Given the description of an element on the screen output the (x, y) to click on. 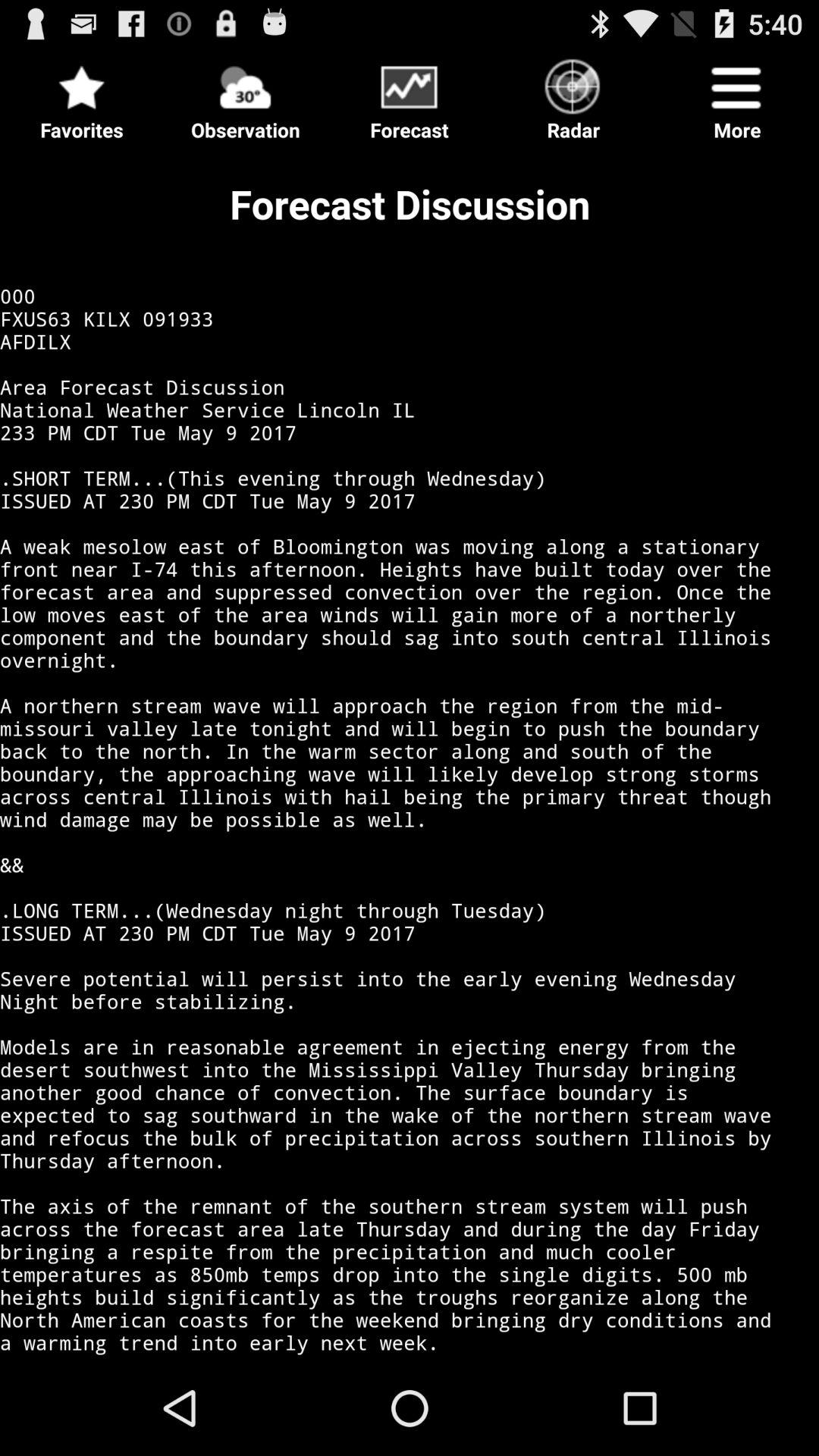
choose the favorites button (81, 95)
